Given the description of an element on the screen output the (x, y) to click on. 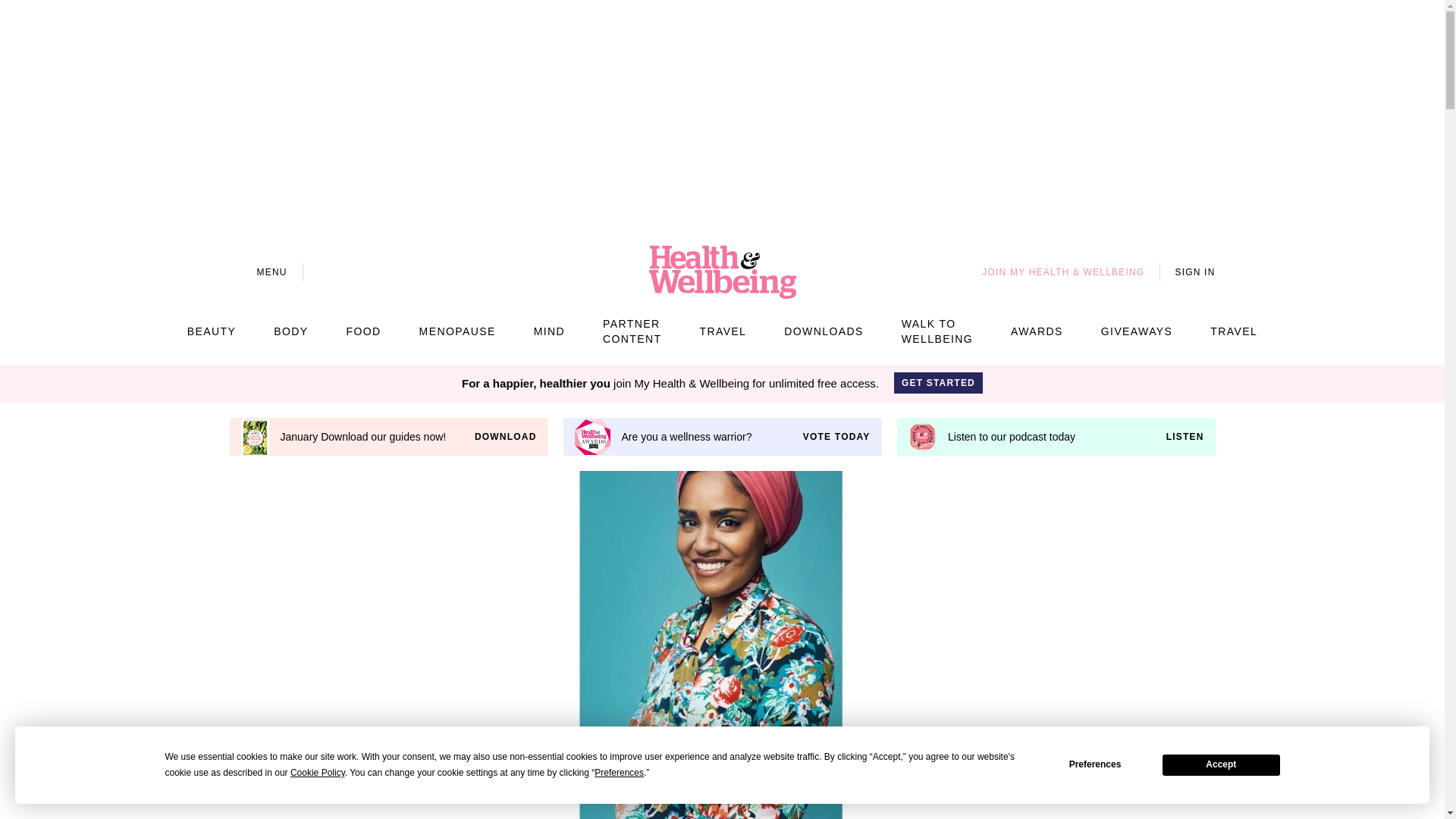
DOWNLOADS (823, 331)
TRAVEL (1233, 331)
Accept (1220, 765)
MENU (257, 271)
GET STARTED (937, 382)
BEAUTY (211, 331)
GIVEAWAYS (1136, 331)
MENOPAUSE (457, 331)
PARTNER CONTENT (631, 330)
